Given the description of an element on the screen output the (x, y) to click on. 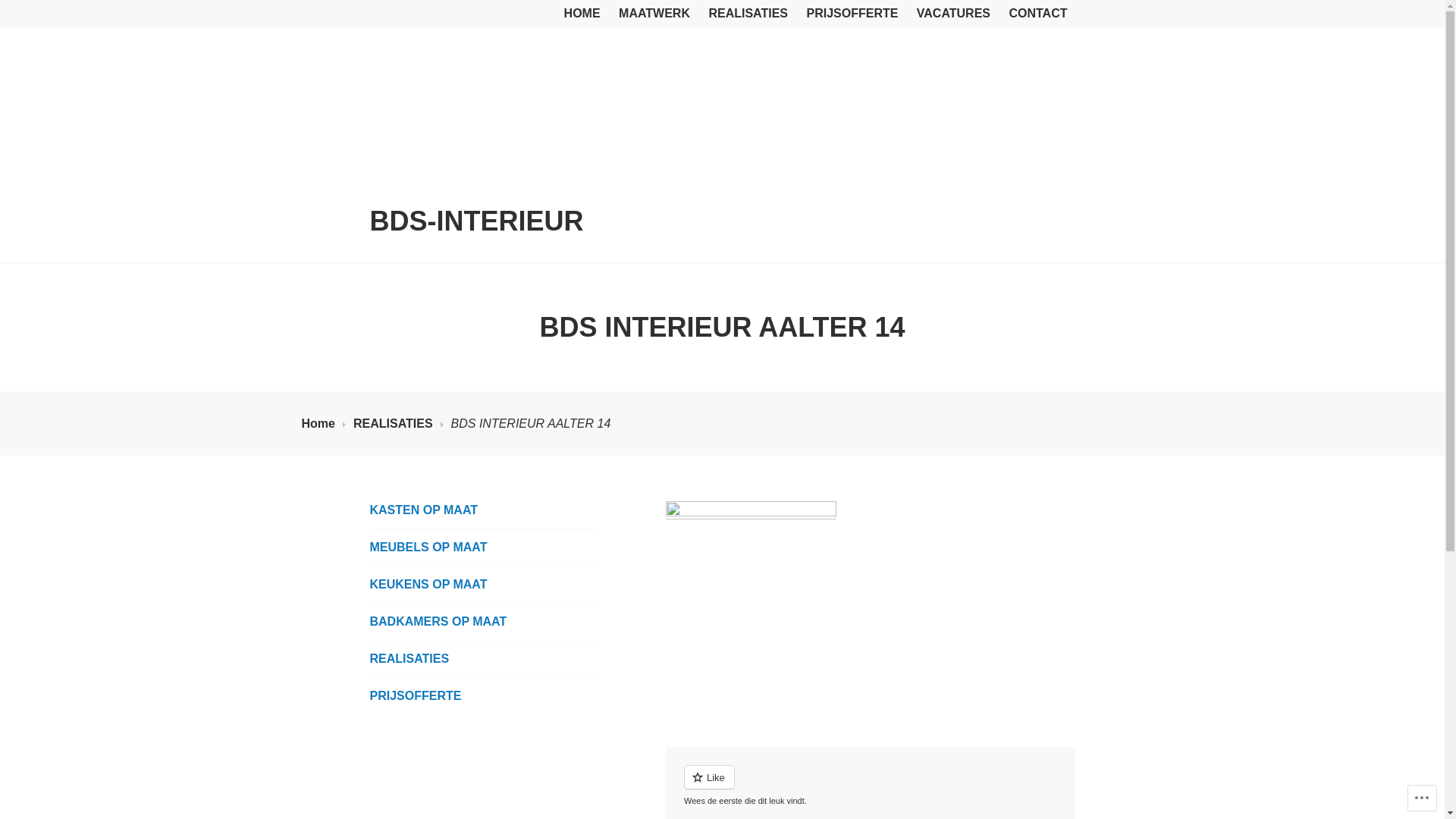
Vind-ik-leuk of reblog Element type: hover (870, 785)
BADKAMERS OP MAAT Element type: text (483, 621)
MAATWERK Element type: text (654, 13)
PRIJSOFFERTE Element type: text (851, 13)
REALISATIES Element type: text (483, 658)
REALISATIES Element type: text (747, 13)
KEUKENS OP MAAT Element type: text (483, 584)
PRIJSOFFERTE Element type: text (483, 696)
BDS-INTERIEUR Element type: text (476, 221)
KASTEN OP MAAT Element type: text (483, 510)
REALISATIES Element type: text (398, 423)
MEUBELS OP MAAT Element type: text (483, 547)
HOME Element type: text (582, 13)
CONTACT Element type: text (1037, 13)
Home Element type: text (323, 423)
VACATURES Element type: text (953, 13)
